Given the description of an element on the screen output the (x, y) to click on. 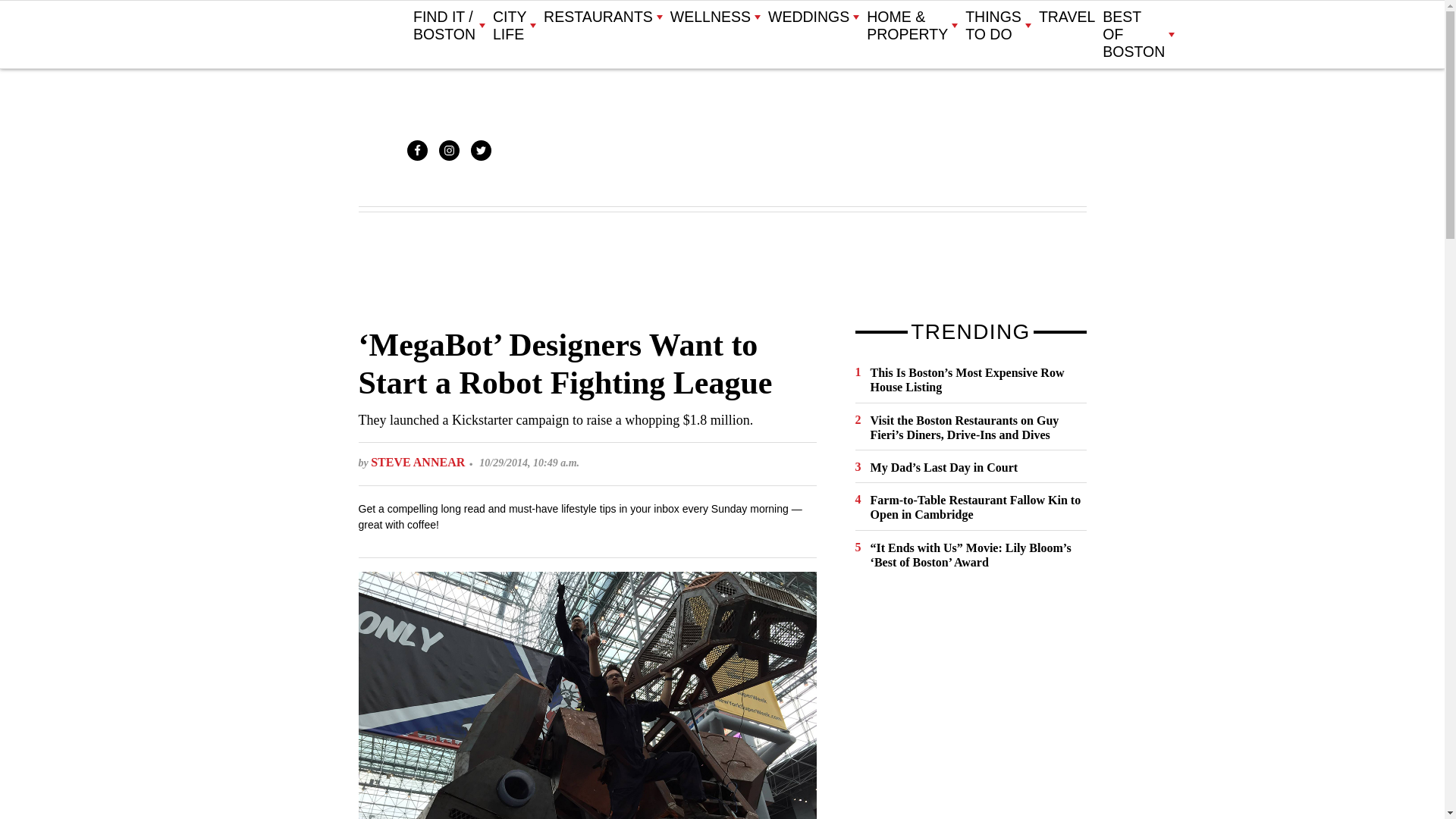
RESTAURANTS (602, 16)
WEDDINGS (813, 16)
WELLNESS (714, 16)
3rd party ad content (721, 269)
THINGS TO DO (997, 25)
